Given the description of an element on the screen output the (x, y) to click on. 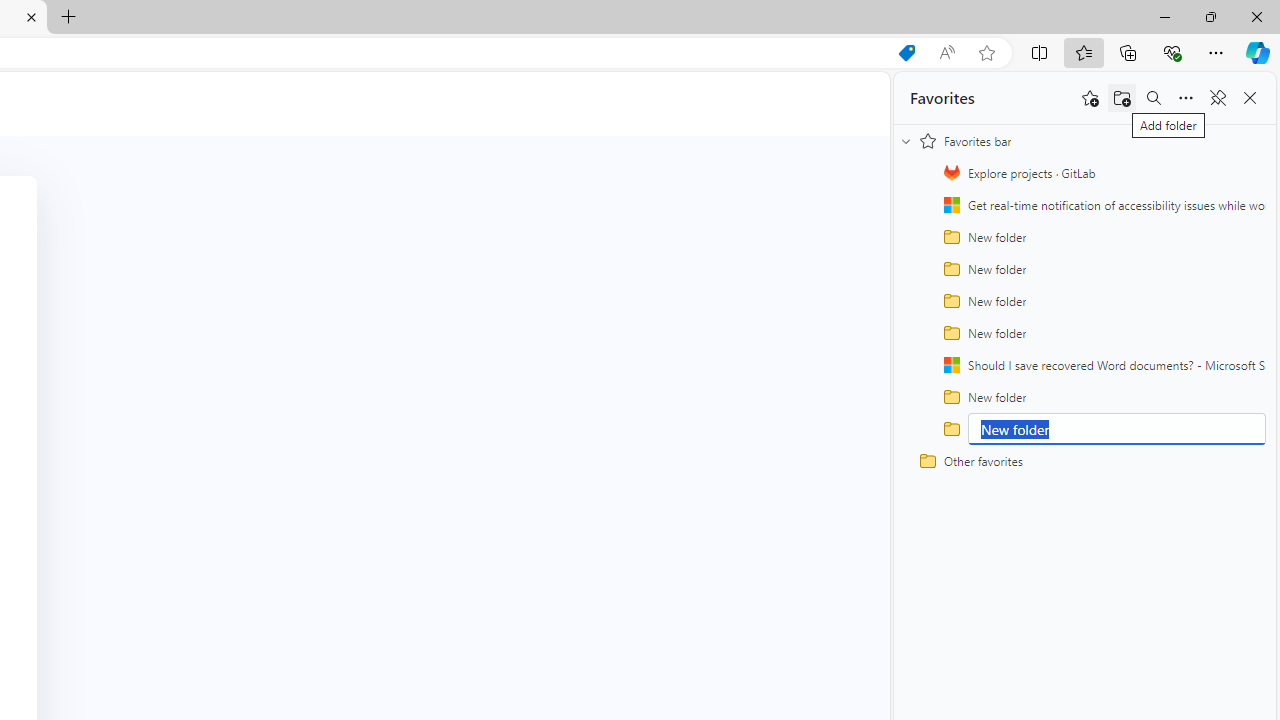
Add folder (1122, 98)
AutomationID: control (1116, 428)
Add this page to favorites (1089, 98)
Unpin favorites (1217, 98)
